Given the description of an element on the screen output the (x, y) to click on. 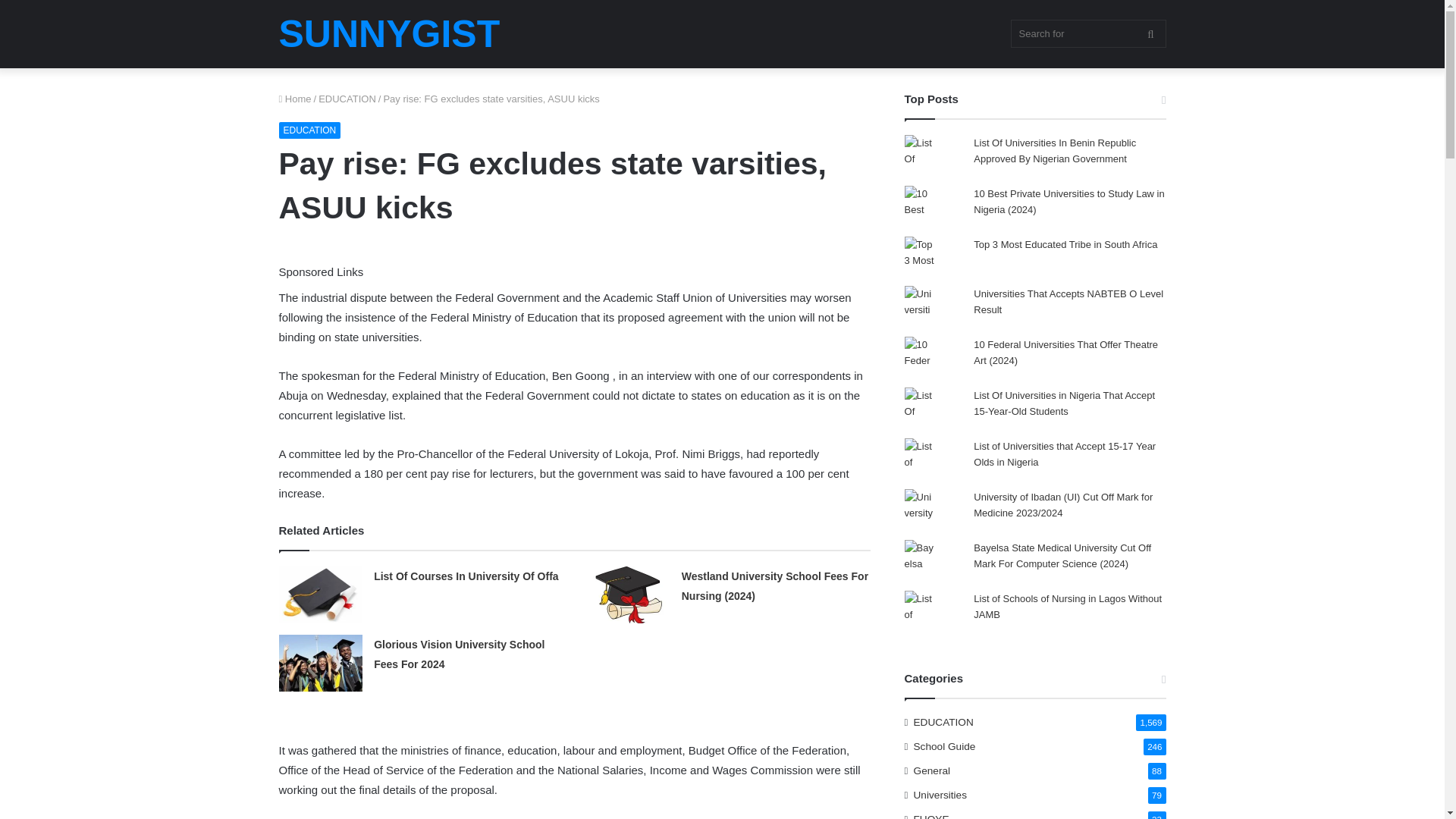
EDUCATION (346, 98)
SUNNYGIST (389, 34)
SUNNYGIST (389, 34)
Glorious Vision University School Fees For 2024 (459, 654)
Search for (1088, 33)
EDUCATION (309, 130)
Home (295, 98)
List Of Courses In University Of Offa (466, 576)
